Given the description of an element on the screen output the (x, y) to click on. 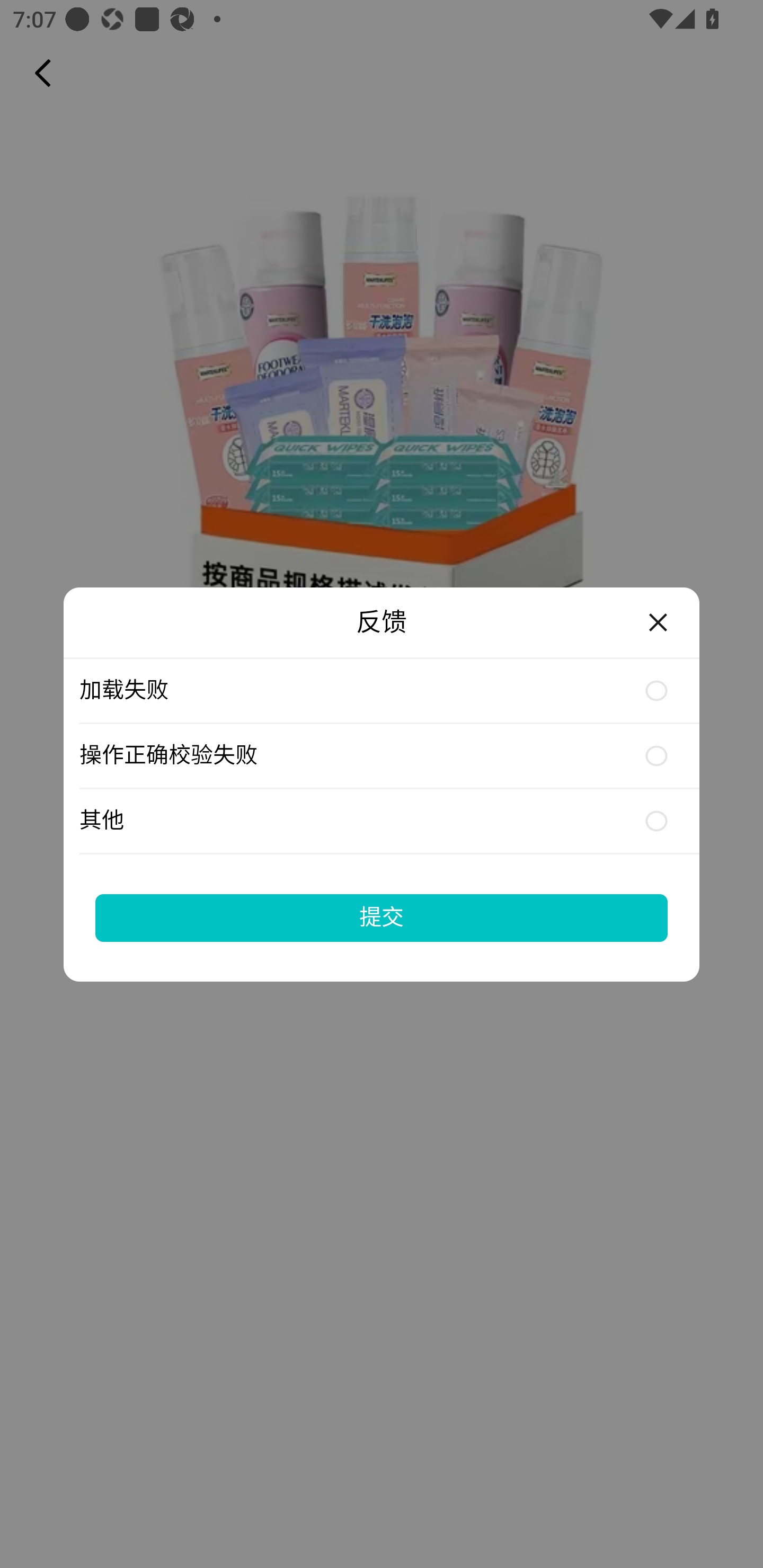
提交 (381, 917)
